Given the description of an element on the screen output the (x, y) to click on. 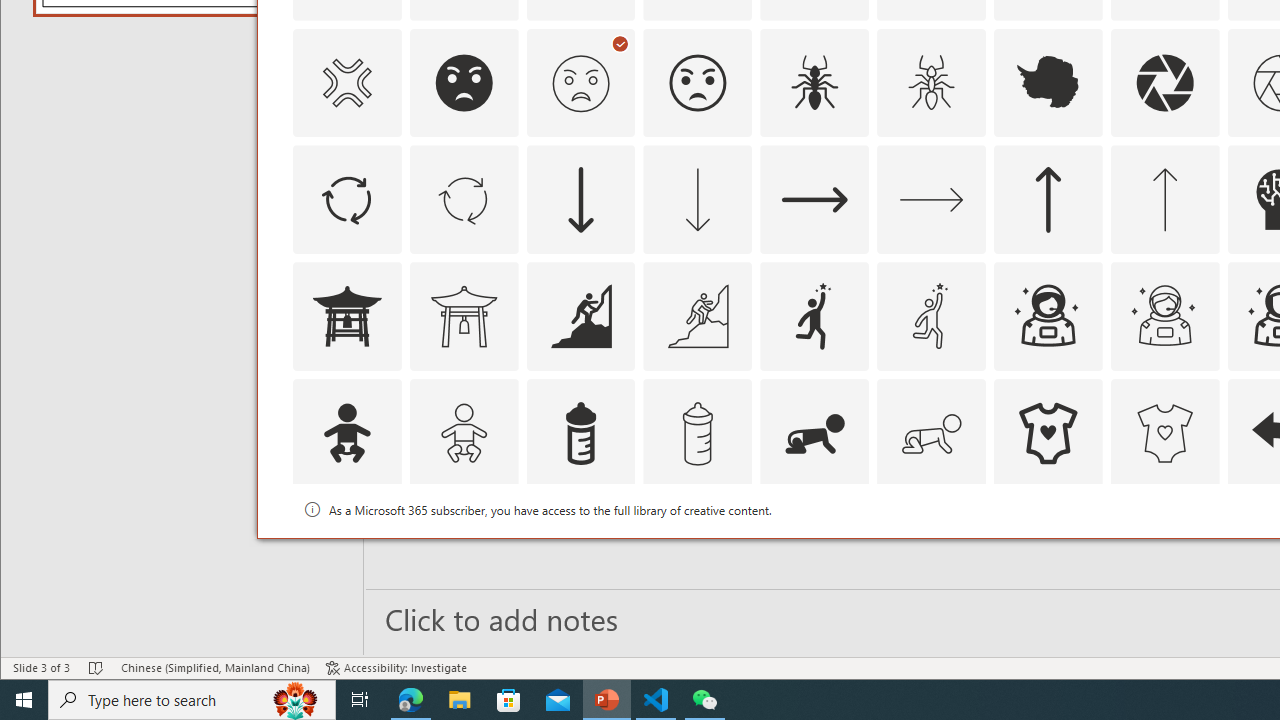
AutomationID: Icons_BabyCrawling_M (931, 434)
AutomationID: Icons_BabyCrawling (815, 434)
AutomationID: Icons_Aspiration1 (815, 316)
AutomationID: Icons_AngerSymbol_M (346, 82)
AutomationID: Icons_Badge2_M (580, 550)
AutomationID: Icons (1048, 550)
